Given the description of an element on the screen output the (x, y) to click on. 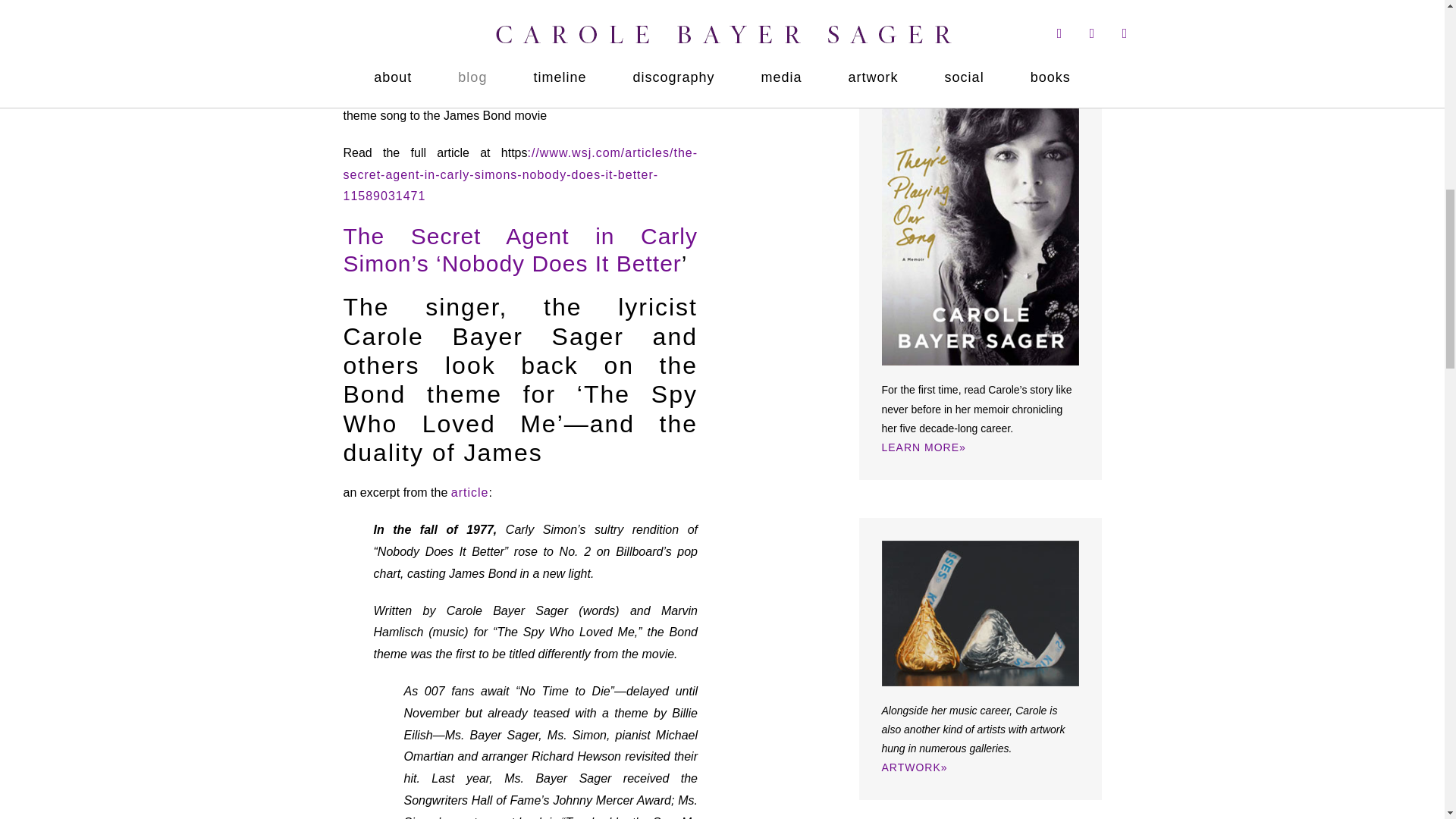
article (470, 492)
interviews (989, 14)
recent article in the Wall Street Journal (475, 92)
